Given the description of an element on the screen output the (x, y) to click on. 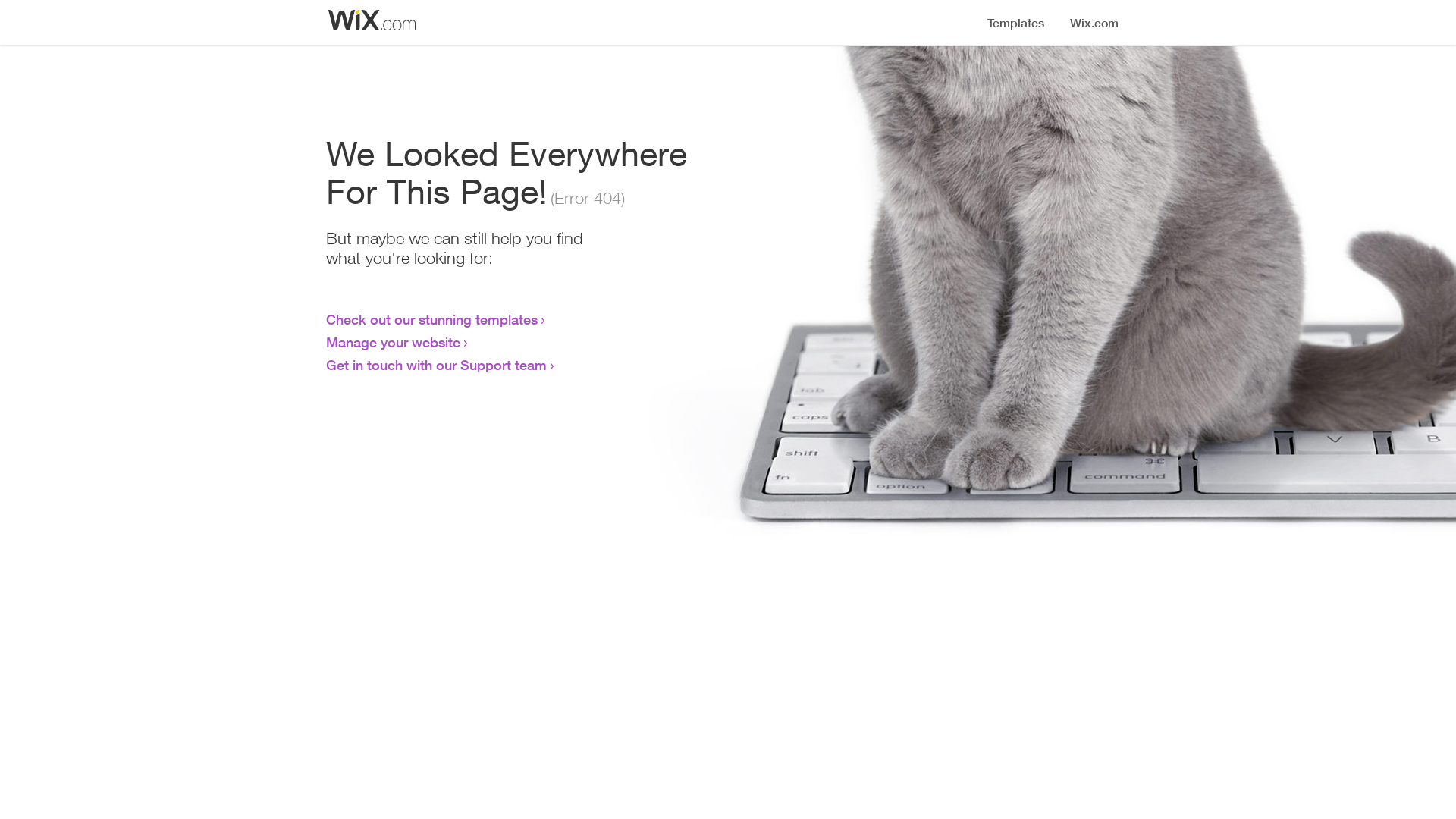
Manage your website Element type: text (393, 341)
Get in touch with our Support team Element type: text (436, 364)
Check out our stunning templates Element type: text (431, 318)
